Given the description of an element on the screen output the (x, y) to click on. 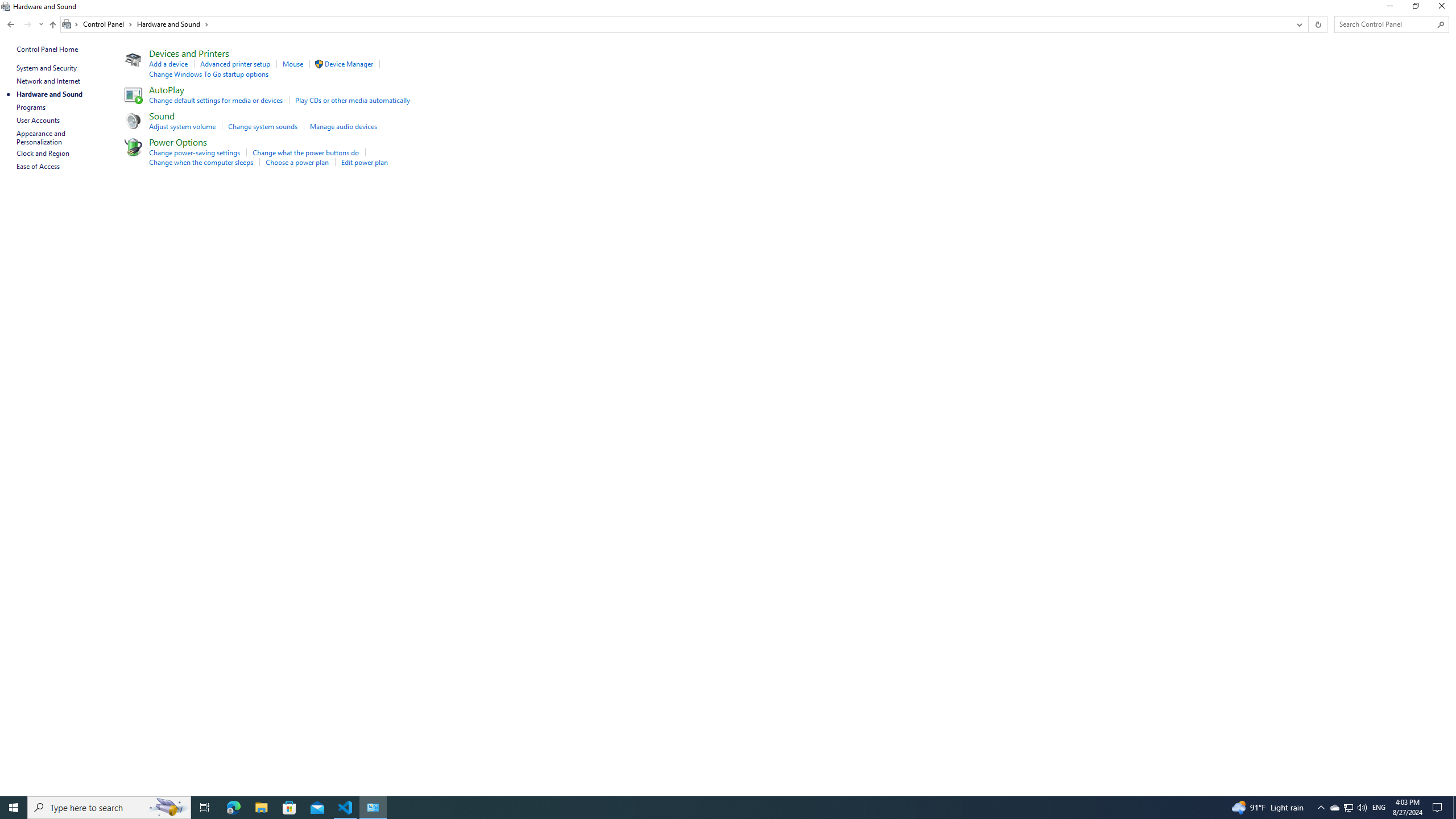
Devices and Printers (189, 52)
Hardware and Sound (173, 23)
Change Windows To Go startup options (208, 73)
Icon (318, 63)
Up band toolbar (52, 26)
Recent locations (40, 23)
Icon (132, 146)
AutoPlay (166, 89)
Back to Network and Internet (Alt + Left Arrow) (10, 23)
User Accounts (38, 120)
